Given the description of an element on the screen output the (x, y) to click on. 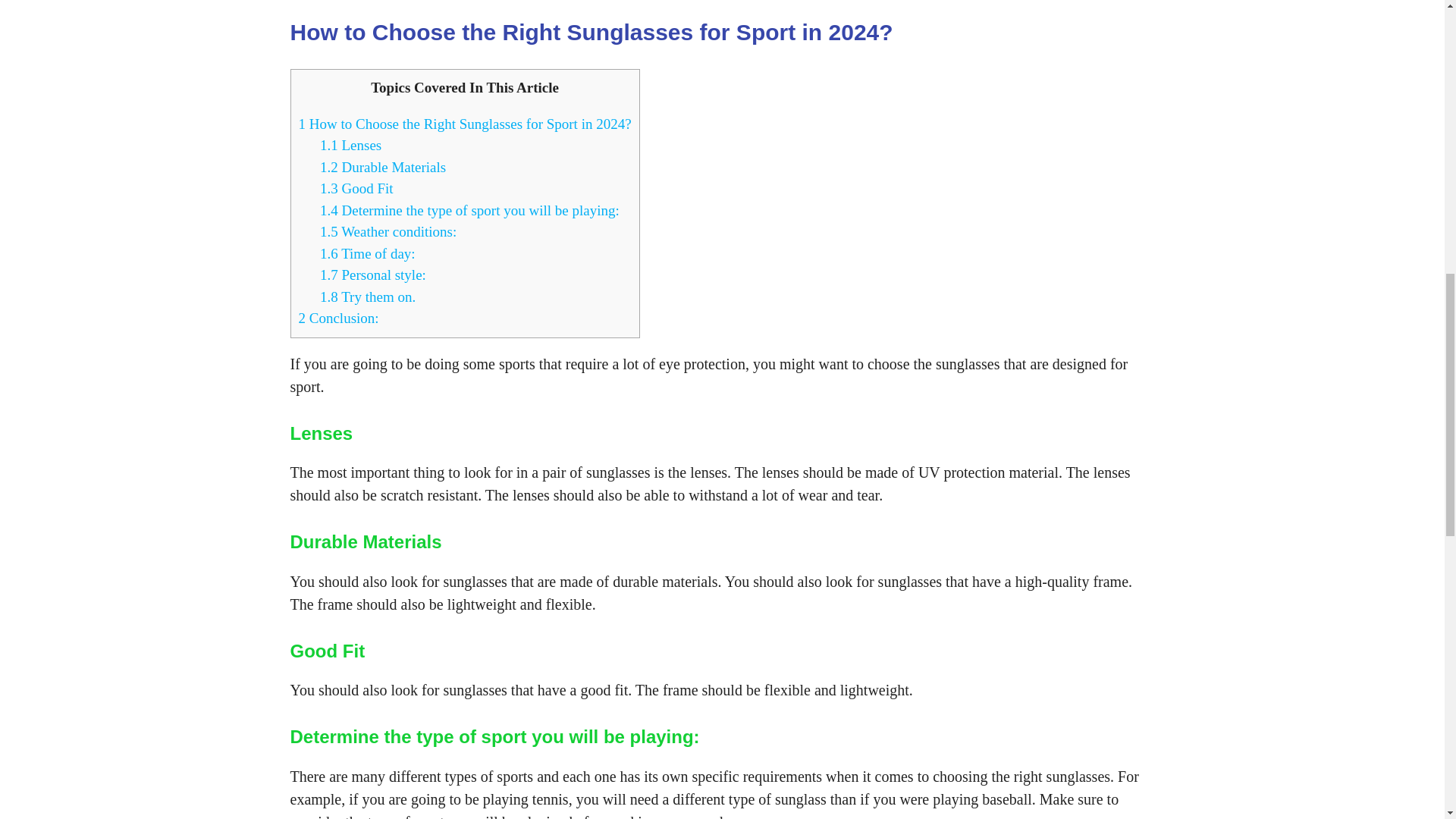
1.8 Try them on. (367, 295)
1.3 Good Fit (356, 188)
1.7 Personal style: (373, 274)
1.4 Determine the type of sport you will be playing: (470, 209)
2 Conclusion: (338, 317)
1.2 Durable Materials (382, 166)
1 How to Choose the Right Sunglasses for Sport in 2024? (464, 123)
1.6 Time of day: (367, 253)
1.1 Lenses (350, 145)
1.5 Weather conditions: (388, 231)
